Given the description of an element on the screen output the (x, y) to click on. 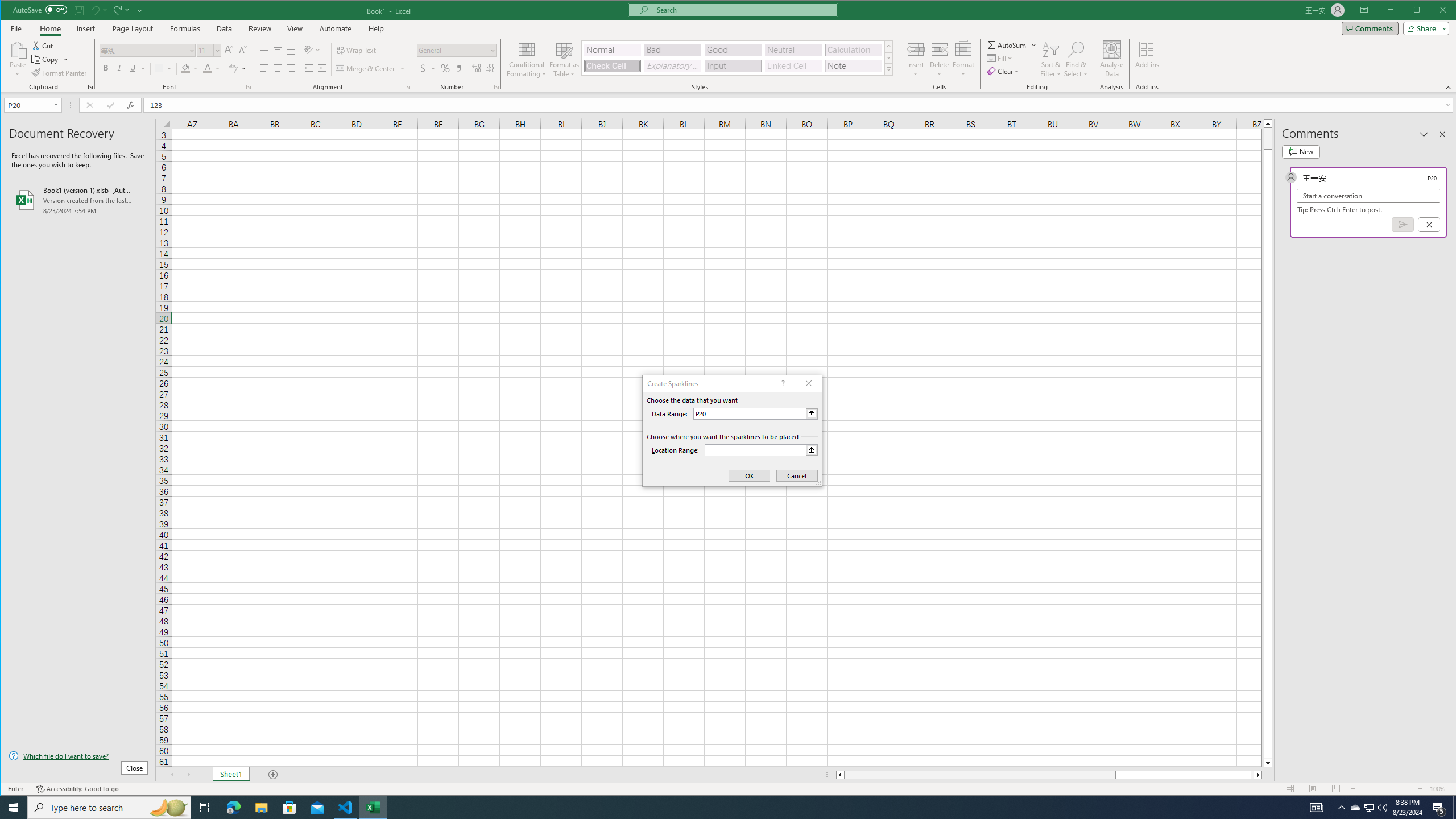
Conditional Formatting (526, 59)
Page up (1267, 138)
Font Size (205, 50)
Sort & Filter (1050, 59)
Task Pane Options (1423, 133)
Underline (132, 68)
Show Phonetic Field (233, 68)
Format as Table (564, 59)
Delete (939, 59)
